Given the description of an element on the screen output the (x, y) to click on. 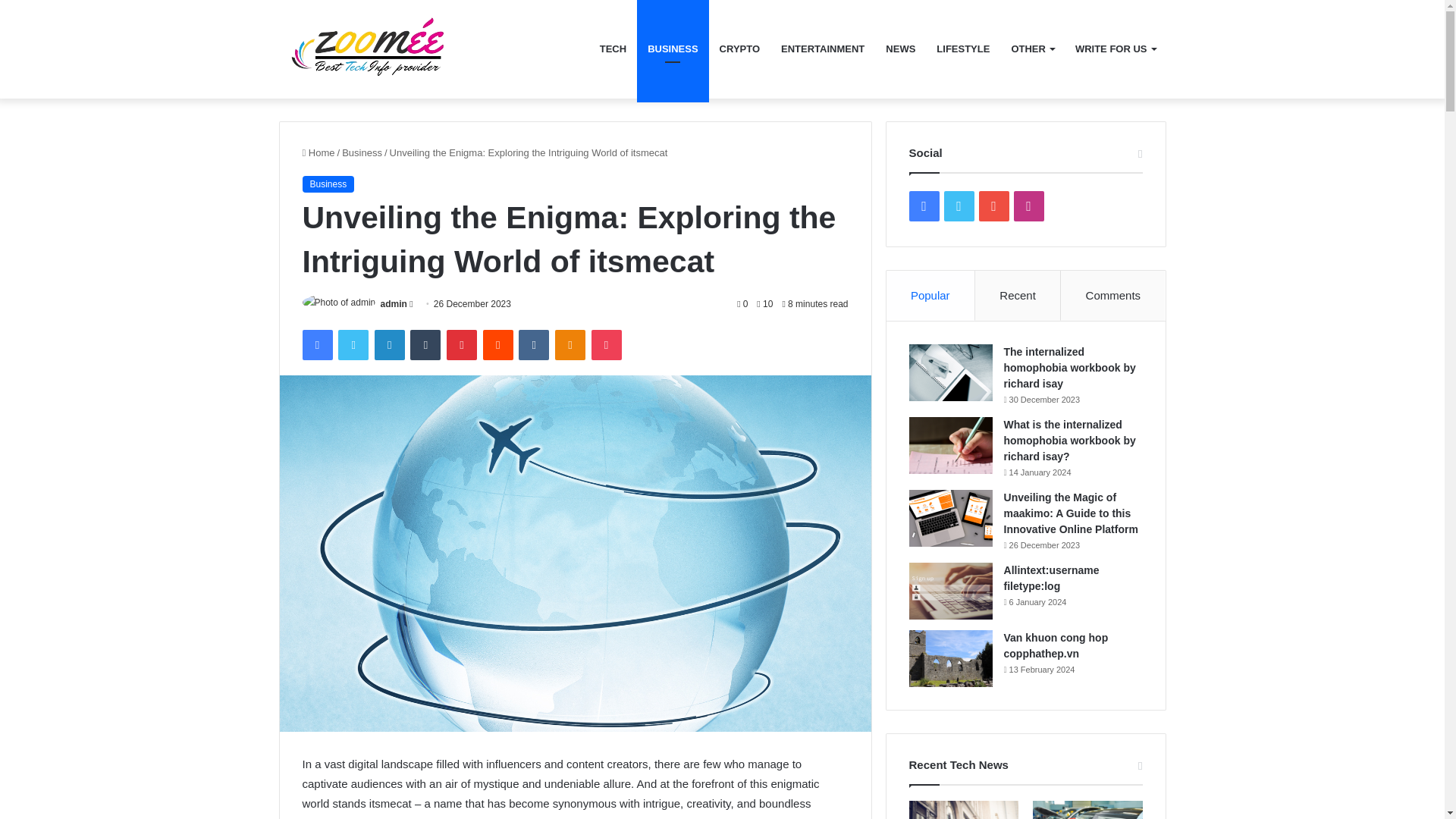
admin (393, 303)
LIFESTYLE (963, 49)
Odnoklassniki (569, 345)
Pinterest (461, 345)
WRITE FOR US (1115, 49)
TECH (613, 49)
Business (361, 152)
VKontakte (533, 345)
Odnoklassniki (569, 345)
CRYPTO (739, 49)
Pocket (606, 345)
Facebook (316, 345)
Twitter (352, 345)
